Given the description of an element on the screen output the (x, y) to click on. 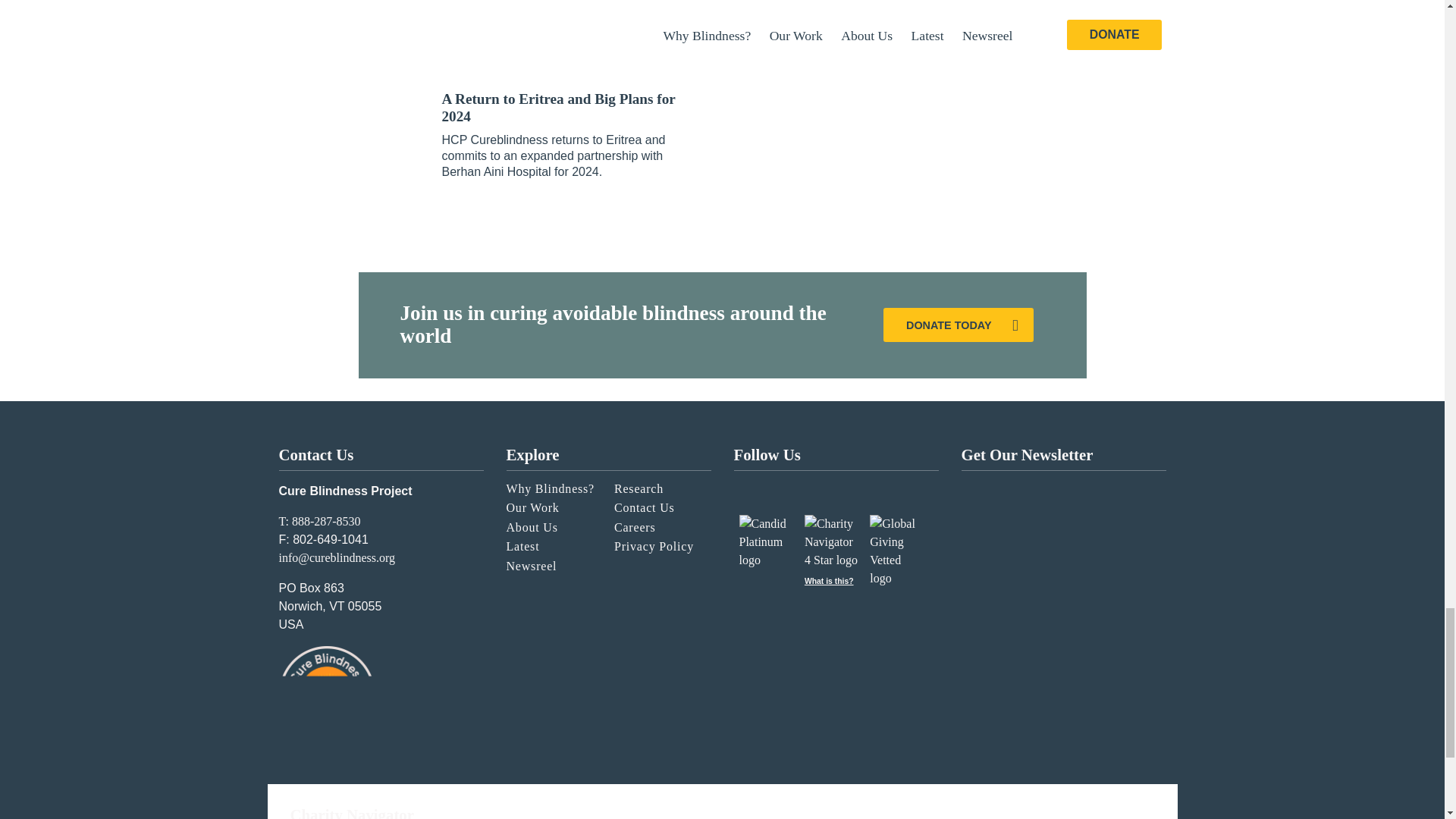
Instagram (751, 485)
IMG 0057 2100x1400 7806cee6 3d19 4ac3 9bbb c3b3bc3850db (570, 35)
